Given the description of an element on the screen output the (x, y) to click on. 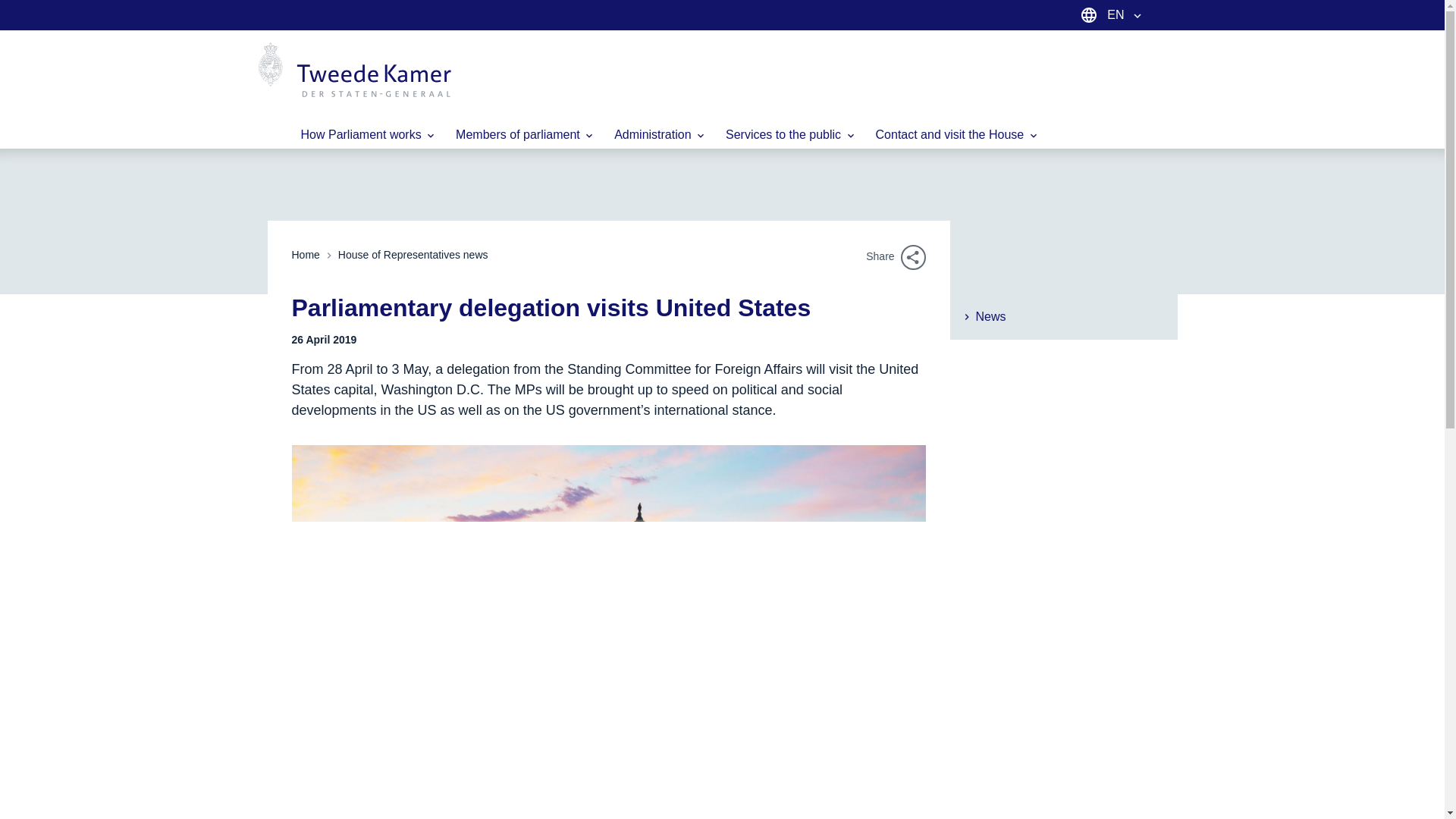
EN (1125, 15)
Administration (660, 134)
Contact and visit the House (957, 134)
Home (304, 255)
Services to the public (791, 134)
House of Representatives news (412, 255)
How Parliament works (368, 134)
Members of parliament (525, 134)
